Given the description of an element on the screen output the (x, y) to click on. 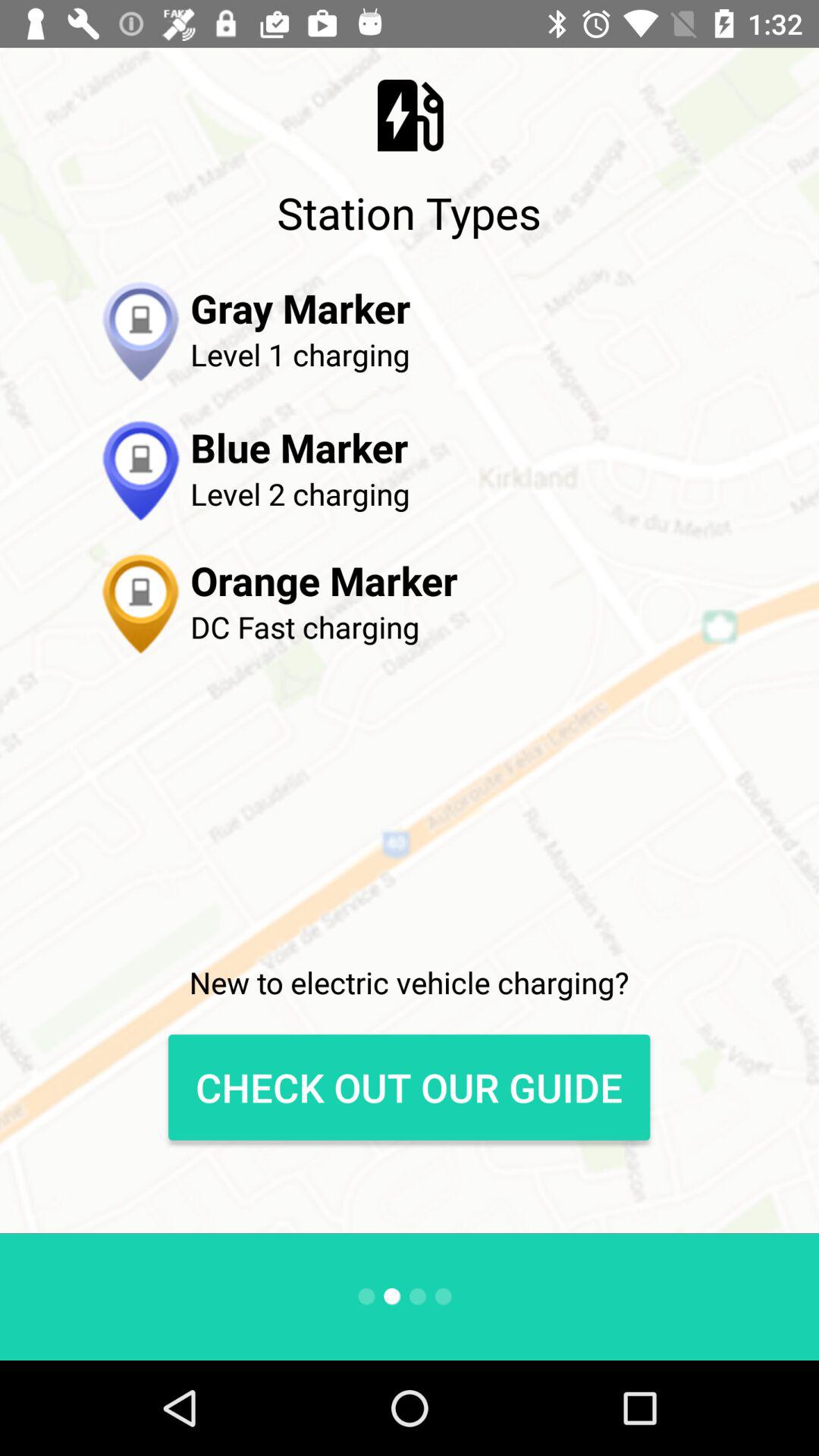
jump until the check out our icon (409, 1087)
